Given the description of an element on the screen output the (x, y) to click on. 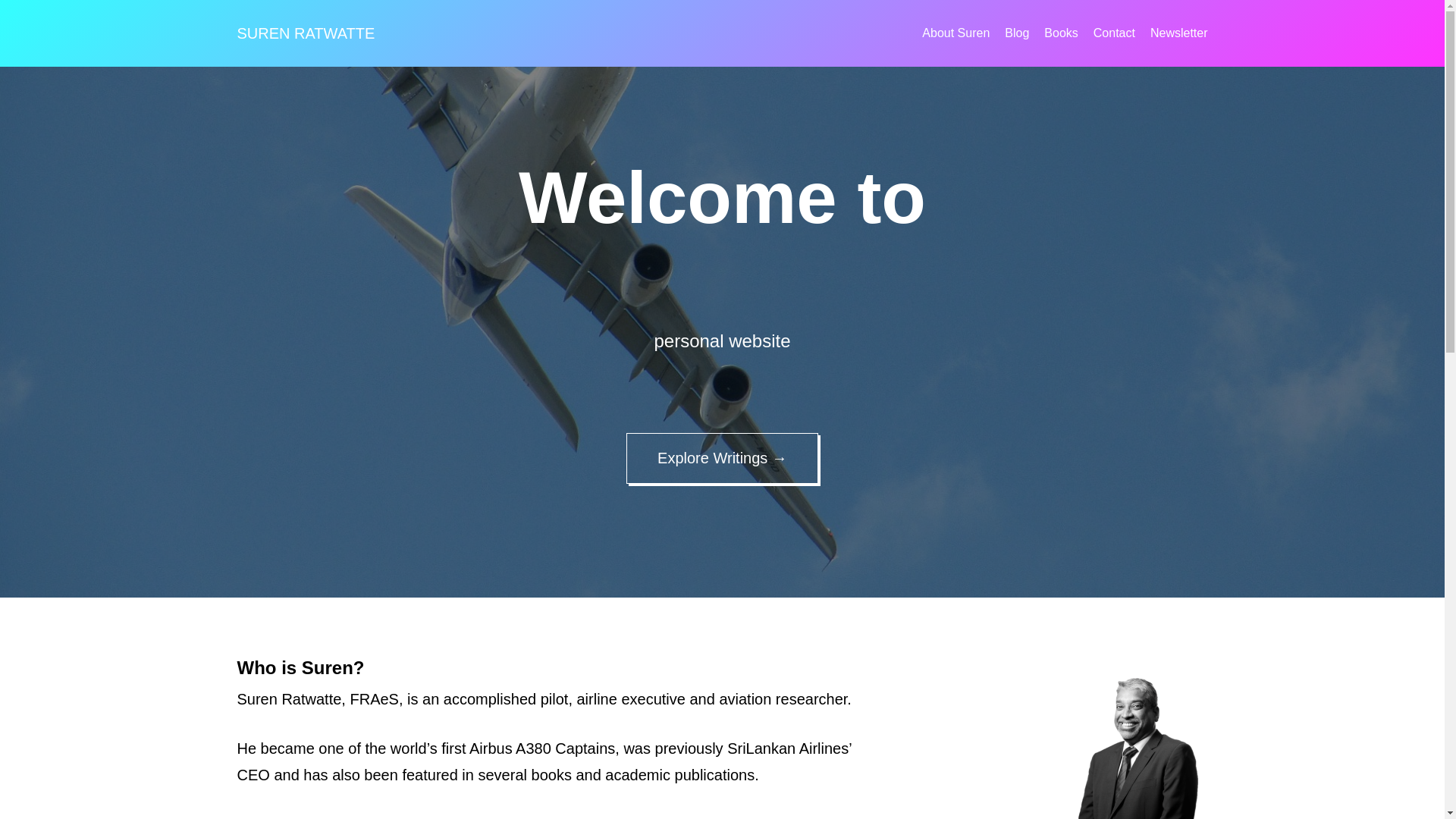
SUREN RATWATTE (304, 33)
Blog (1016, 33)
Contact (1114, 33)
About Suren (955, 33)
Books (1060, 33)
Newsletter (1179, 33)
